Given the description of an element on the screen output the (x, y) to click on. 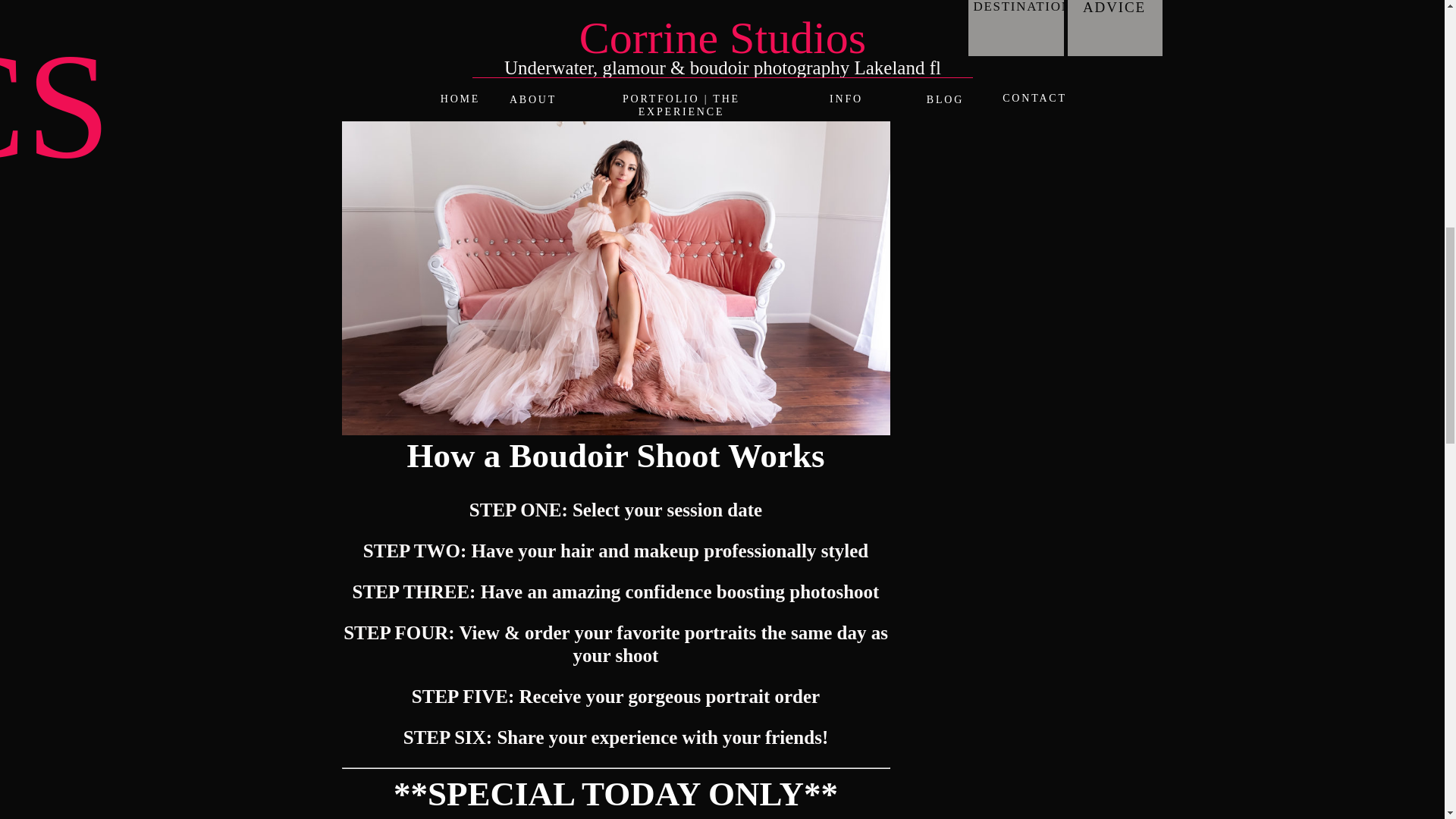
ADVICE (1114, 5)
DESTINATION (1016, 5)
